Given the description of an element on the screen output the (x, y) to click on. 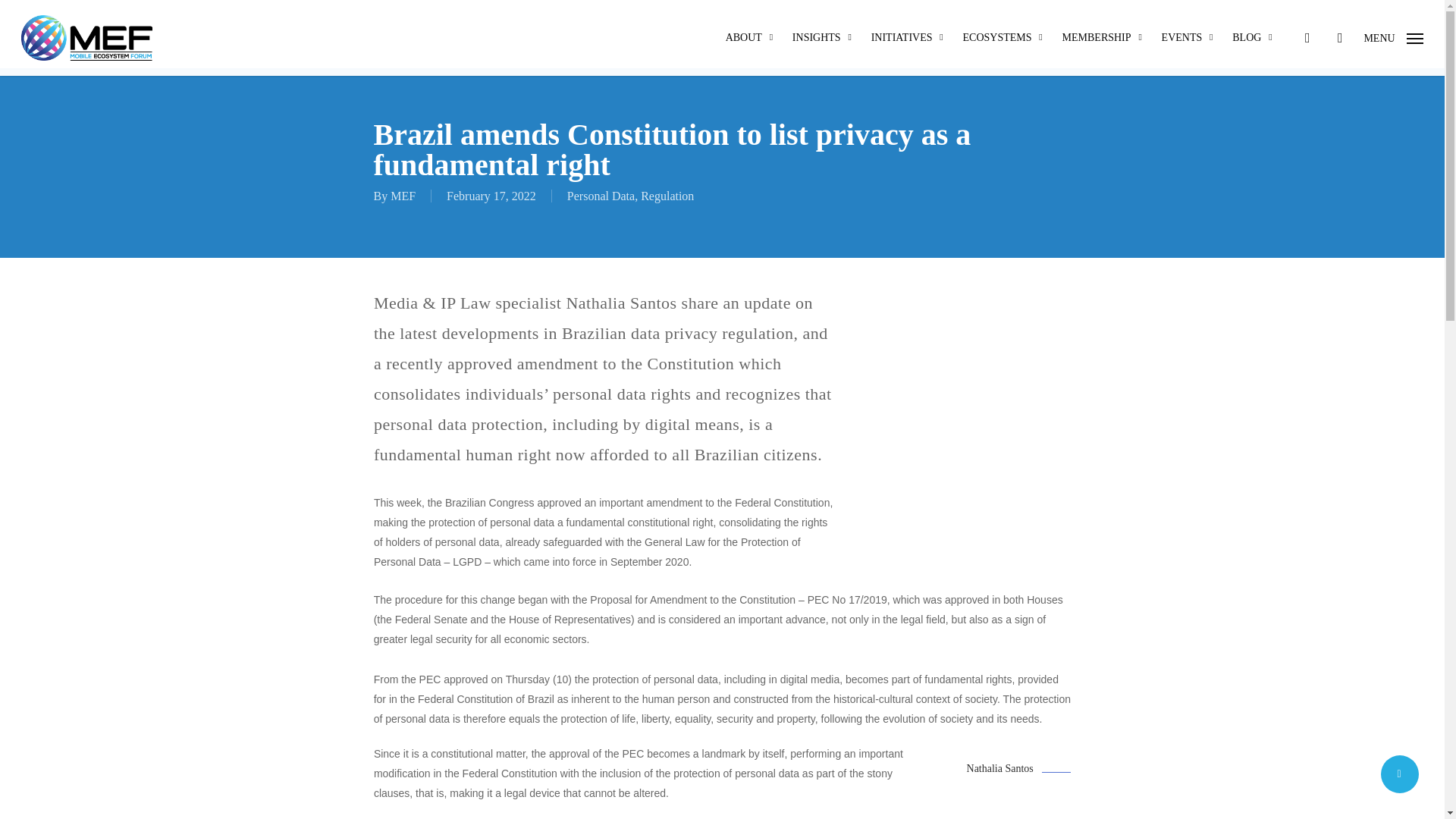
INSIGHTS (824, 37)
ABOUT (751, 37)
INITIATIVES (908, 37)
MEMBERSHIP (1104, 37)
ECOSYSTEMS (1004, 37)
Posts by MEF (402, 195)
EVENTS (1189, 37)
